Given the description of an element on the screen output the (x, y) to click on. 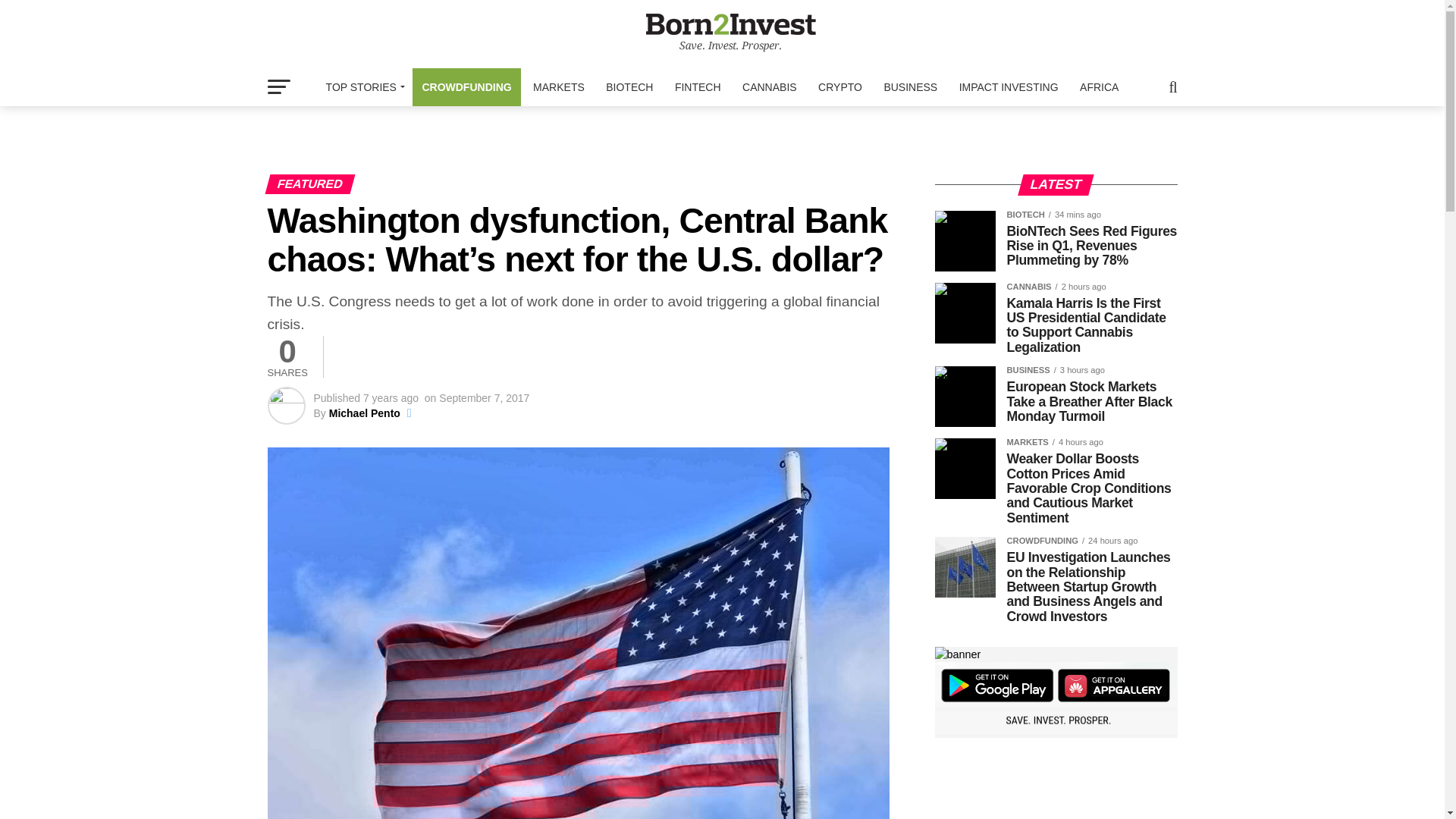
CROWDFUNDING (465, 86)
CANNABIS (769, 86)
BUSINESS (910, 86)
IMPACT INVESTING (1008, 86)
MARKETS (559, 86)
CRYPTO (839, 86)
TOP STORIES (363, 86)
BIOTECH (629, 86)
Michael Pento (364, 413)
AFRICA (1098, 86)
